Given the description of an element on the screen output the (x, y) to click on. 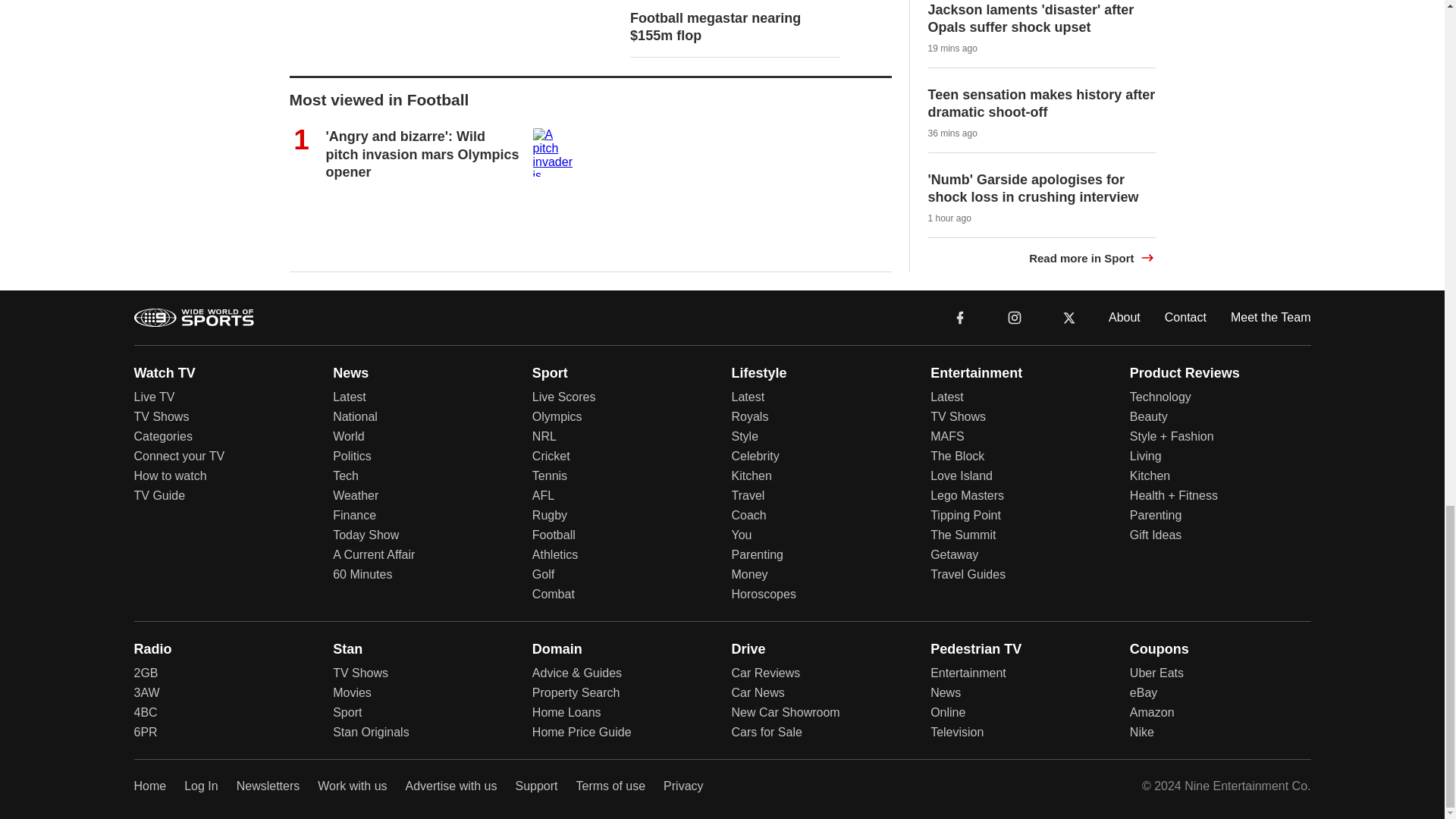
x (1069, 316)
instagram (1013, 316)
facebook (959, 316)
x (1069, 316)
About (1124, 317)
instagram (1014, 317)
Contact (1185, 317)
x (1069, 317)
instagram (1013, 316)
facebook (959, 316)
facebook (960, 317)
